Given the description of an element on the screen output the (x, y) to click on. 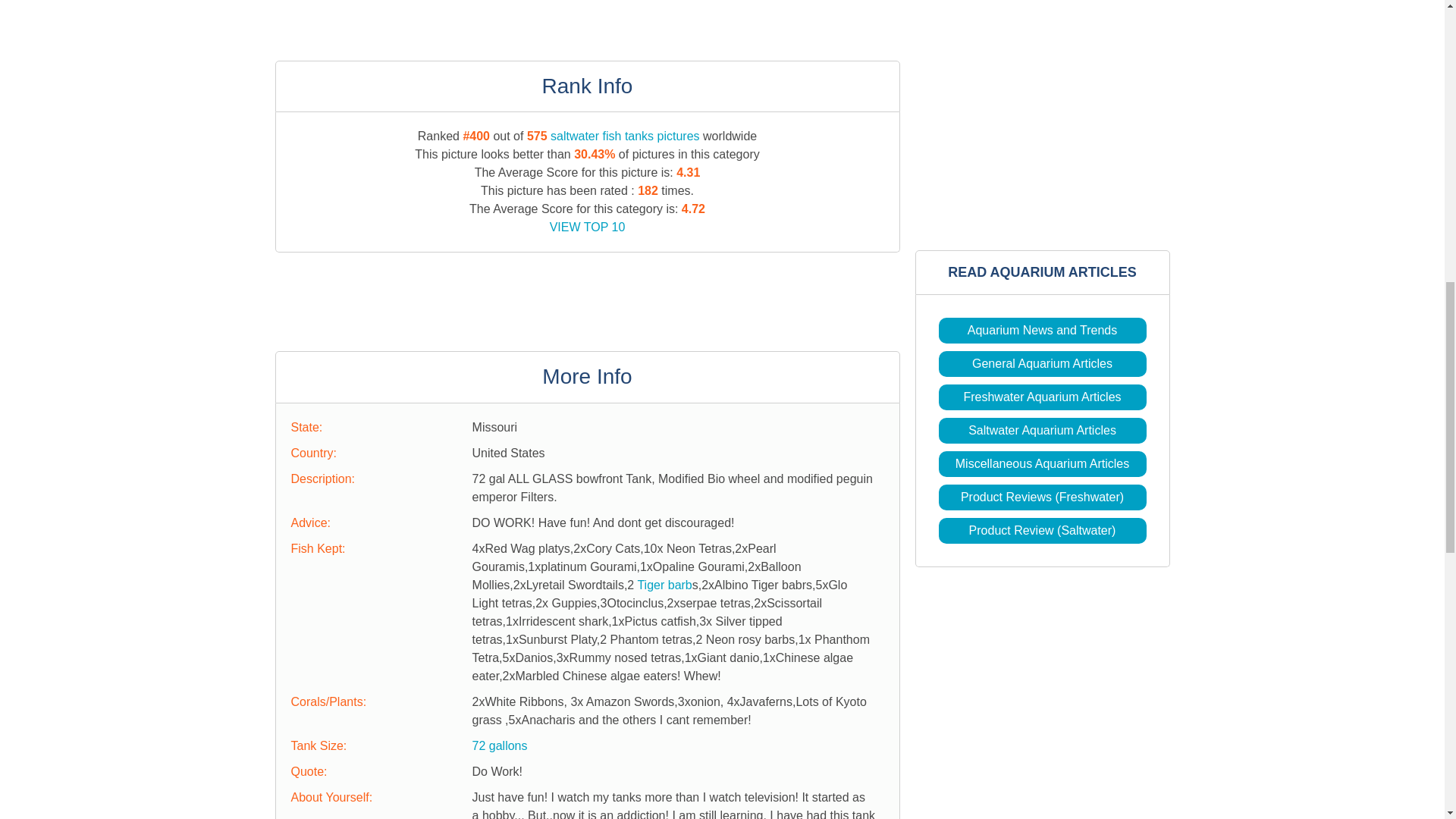
General Aquarium Articles (1042, 363)
72 gallons (499, 745)
Freshwater Aquarium Articles (1041, 396)
Tiger barb (664, 584)
Miscellaneous Aquarium Articles (1042, 463)
VIEW TOP 10 (588, 226)
Saltwater Aquarium Articles (1042, 430)
saltwater fish tanks pictures (625, 135)
Aquarium News and Trends (1042, 329)
